Given the description of an element on the screen output the (x, y) to click on. 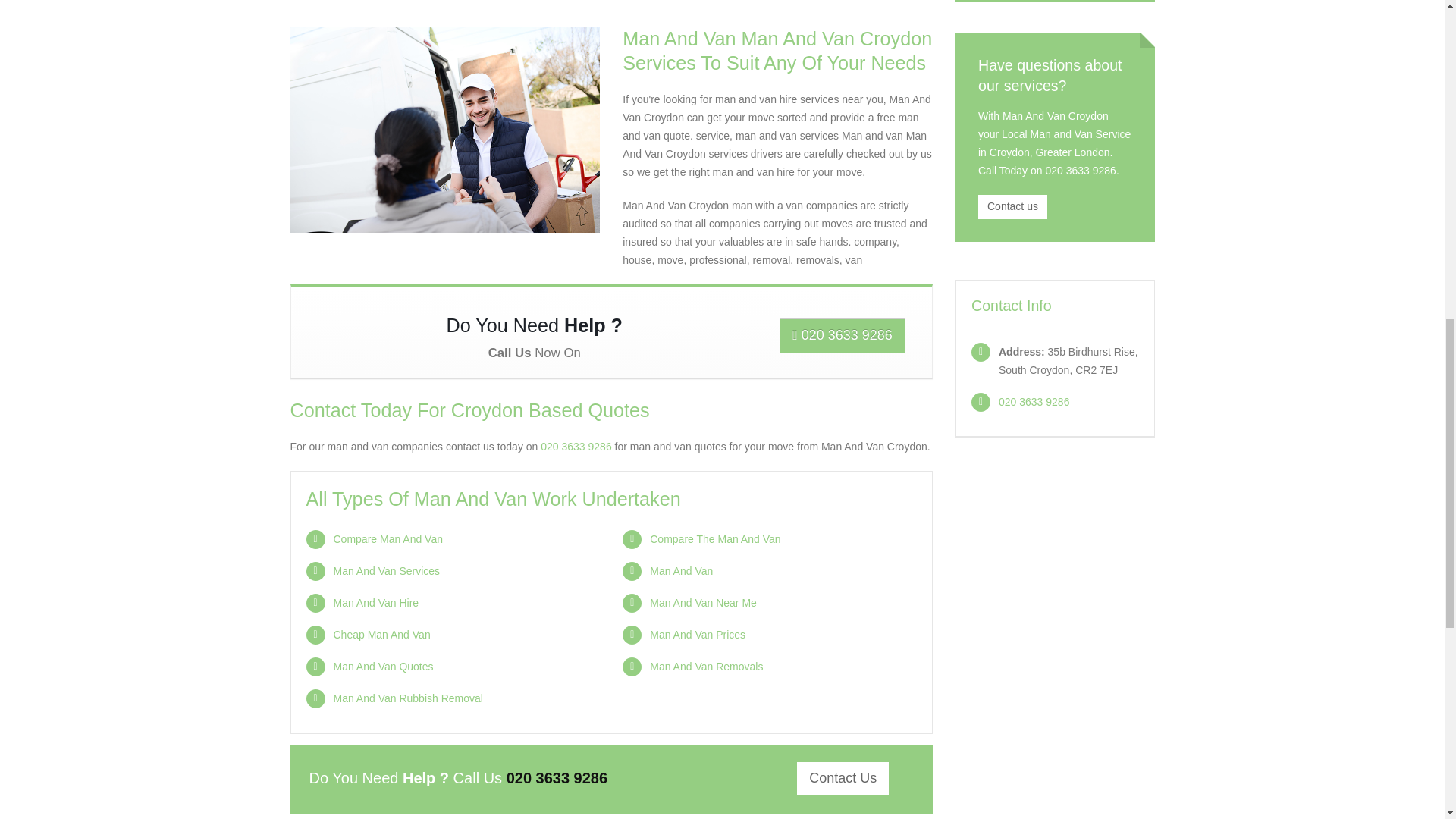
Cheap Man And Van (381, 634)
Man And Van Services (387, 571)
020 3633 9286 (841, 335)
Man And Van Quotes (383, 666)
Compare The Man And Van (714, 539)
Man And Van Removals (705, 666)
Compare Man And Van (388, 539)
Man And Van Hire (376, 603)
Contact Us (842, 778)
Man And Van Rubbish Removal (408, 698)
